Given the description of an element on the screen output the (x, y) to click on. 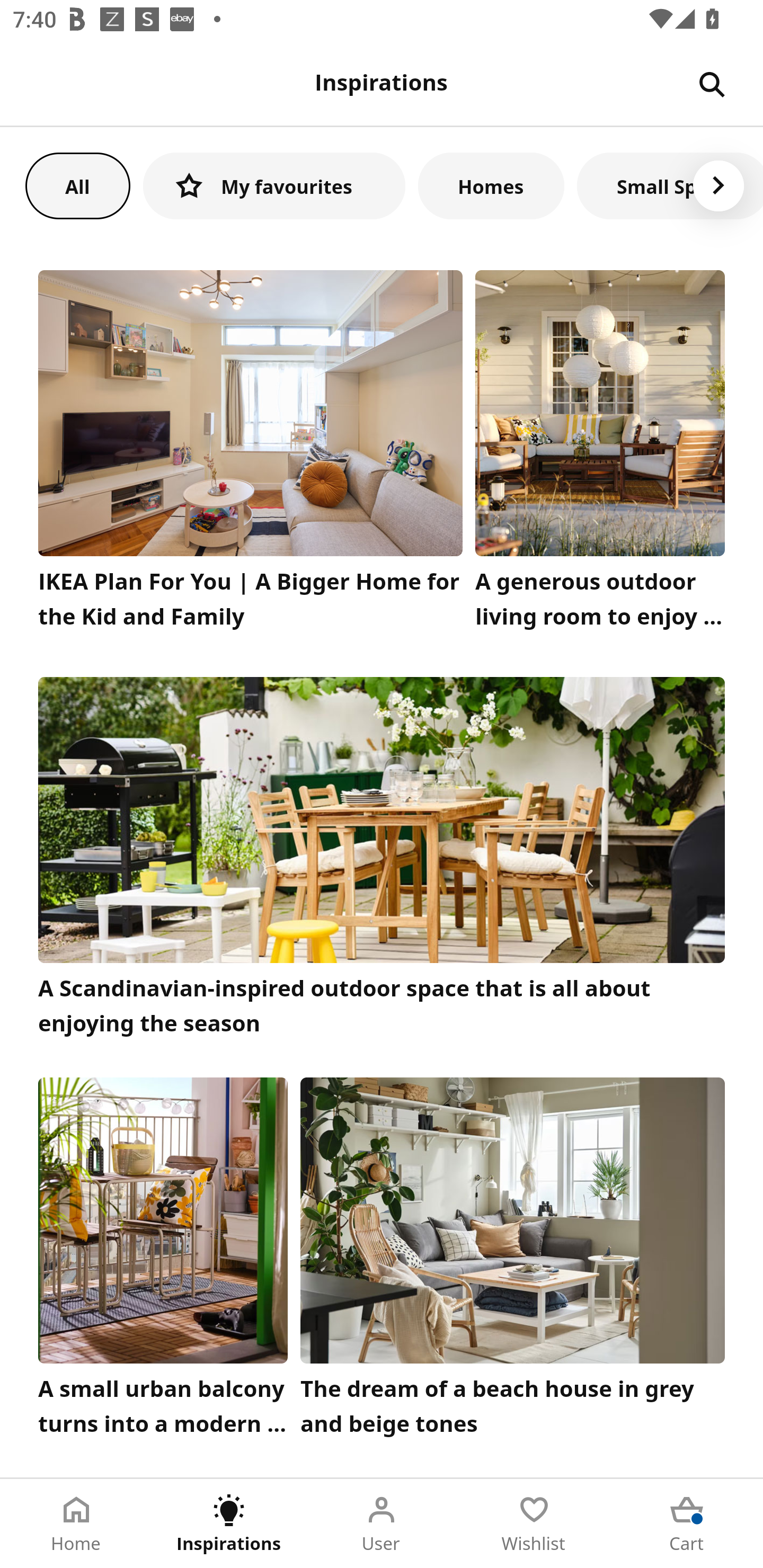
All (77, 185)
My favourites (274, 185)
Homes (491, 185)
The dream of a beach house in grey and beige tones (512, 1261)
Home
Tab 1 of 5 (76, 1522)
Inspirations
Tab 2 of 5 (228, 1522)
User
Tab 3 of 5 (381, 1522)
Wishlist
Tab 4 of 5 (533, 1522)
Cart
Tab 5 of 5 (686, 1522)
